Given the description of an element on the screen output the (x, y) to click on. 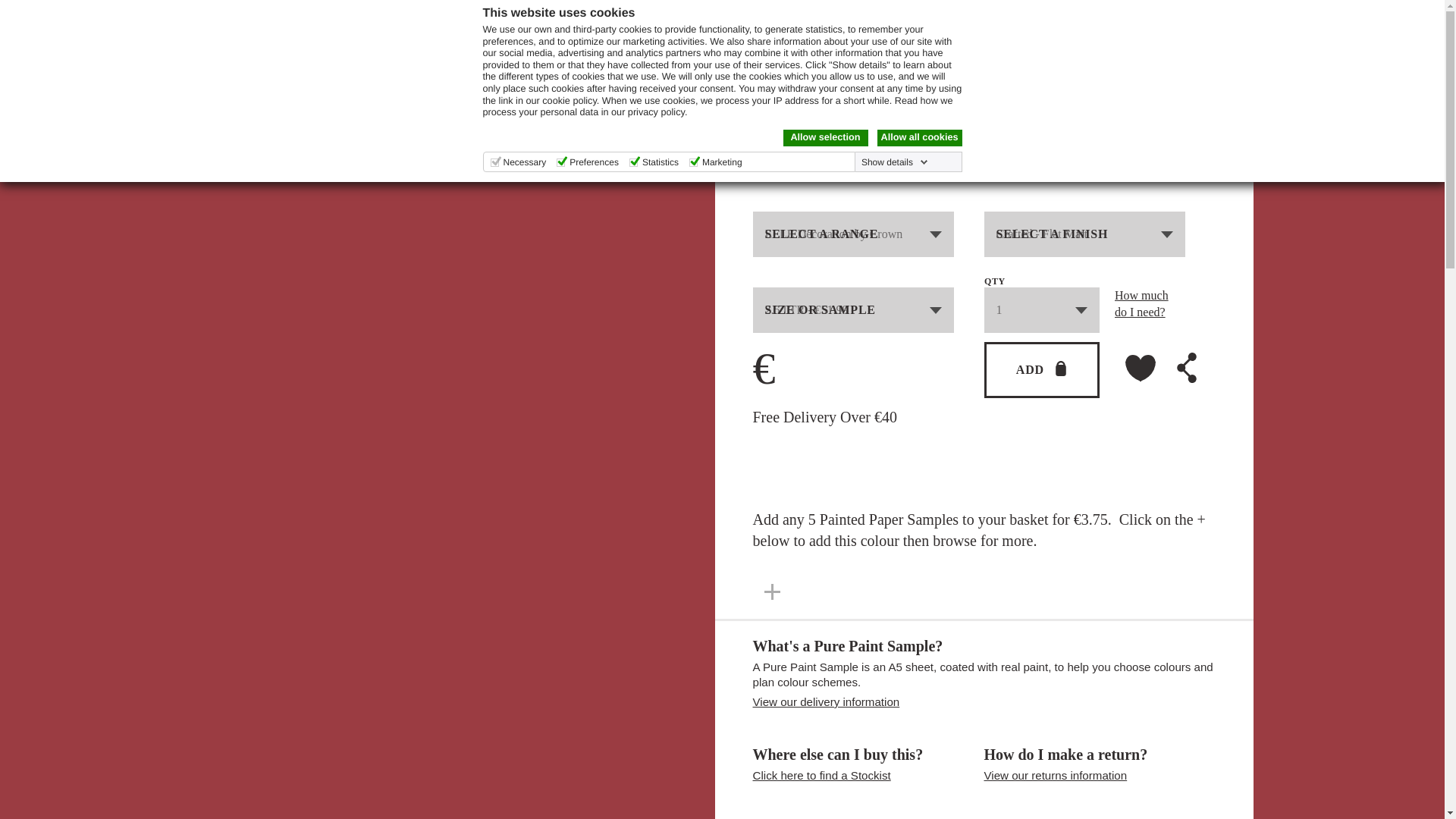
Allow selection (825, 137)
Allow all cookies (918, 137)
Show details (895, 162)
